Given the description of an element on the screen output the (x, y) to click on. 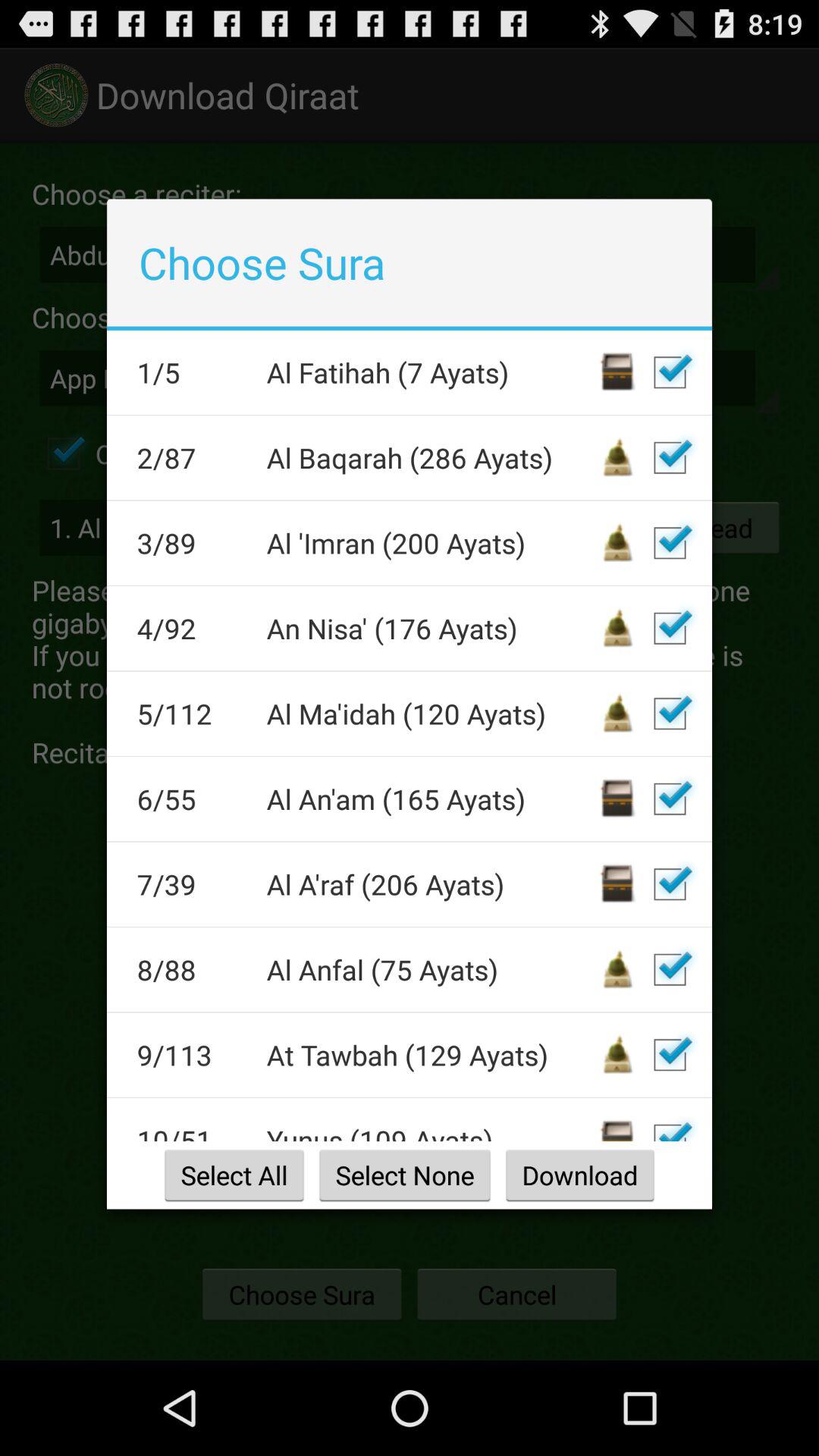
option selected (669, 969)
